Given the description of an element on the screen output the (x, y) to click on. 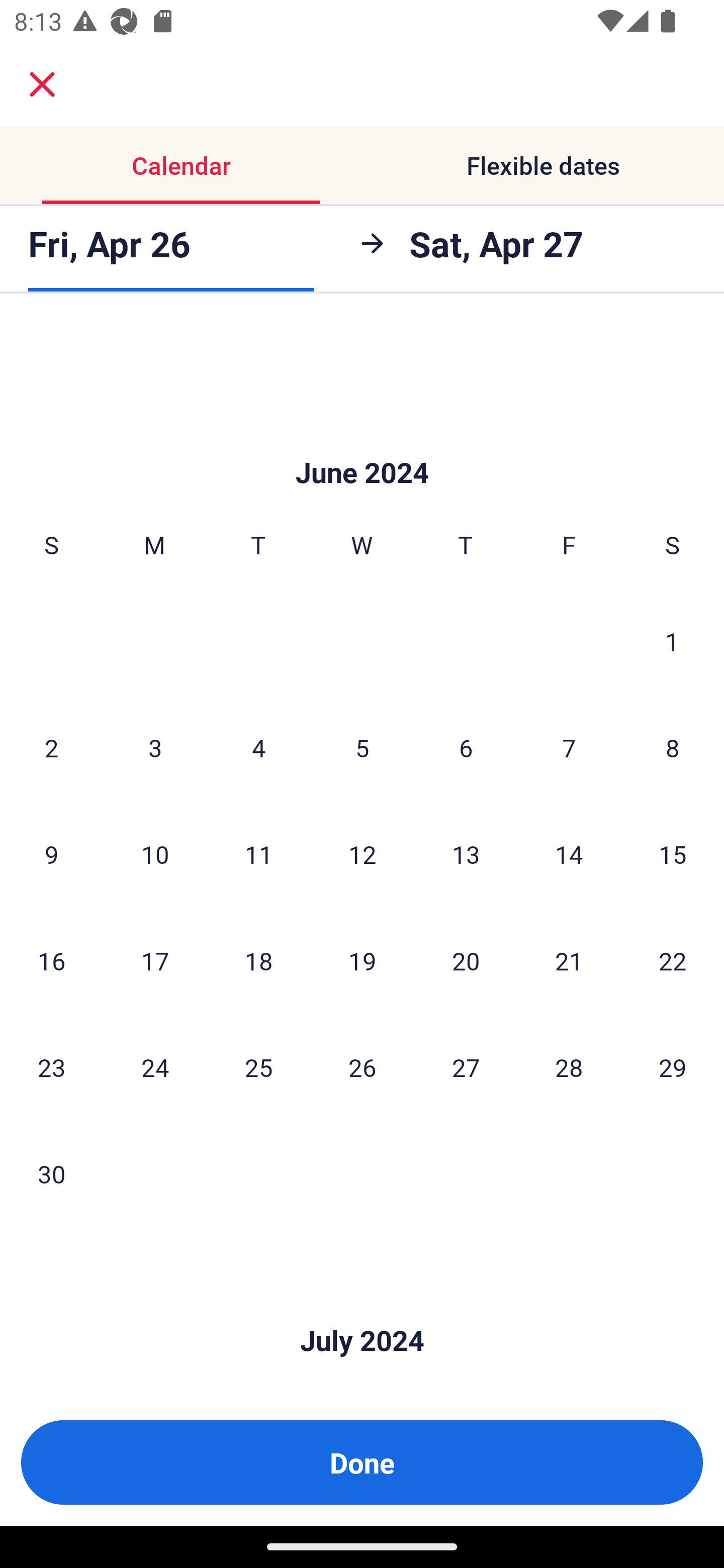
close. (42, 84)
Flexible dates (542, 164)
Skip to Done (362, 441)
1 Saturday, June 1, 2024 (672, 641)
2 Sunday, June 2, 2024 (51, 747)
3 Monday, June 3, 2024 (155, 747)
4 Tuesday, June 4, 2024 (258, 747)
5 Wednesday, June 5, 2024 (362, 747)
6 Thursday, June 6, 2024 (465, 747)
7 Friday, June 7, 2024 (569, 747)
8 Saturday, June 8, 2024 (672, 747)
9 Sunday, June 9, 2024 (51, 854)
10 Monday, June 10, 2024 (155, 854)
11 Tuesday, June 11, 2024 (258, 854)
12 Wednesday, June 12, 2024 (362, 854)
13 Thursday, June 13, 2024 (465, 854)
14 Friday, June 14, 2024 (569, 854)
15 Saturday, June 15, 2024 (672, 854)
16 Sunday, June 16, 2024 (51, 960)
17 Monday, June 17, 2024 (155, 960)
18 Tuesday, June 18, 2024 (258, 960)
19 Wednesday, June 19, 2024 (362, 960)
20 Thursday, June 20, 2024 (465, 960)
21 Friday, June 21, 2024 (569, 960)
22 Saturday, June 22, 2024 (672, 960)
23 Sunday, June 23, 2024 (51, 1066)
24 Monday, June 24, 2024 (155, 1066)
25 Tuesday, June 25, 2024 (258, 1066)
26 Wednesday, June 26, 2024 (362, 1066)
27 Thursday, June 27, 2024 (465, 1066)
28 Friday, June 28, 2024 (569, 1066)
29 Saturday, June 29, 2024 (672, 1066)
30 Sunday, June 30, 2024 (51, 1173)
Skip to Done (362, 1310)
Done (361, 1462)
